Given the description of an element on the screen output the (x, y) to click on. 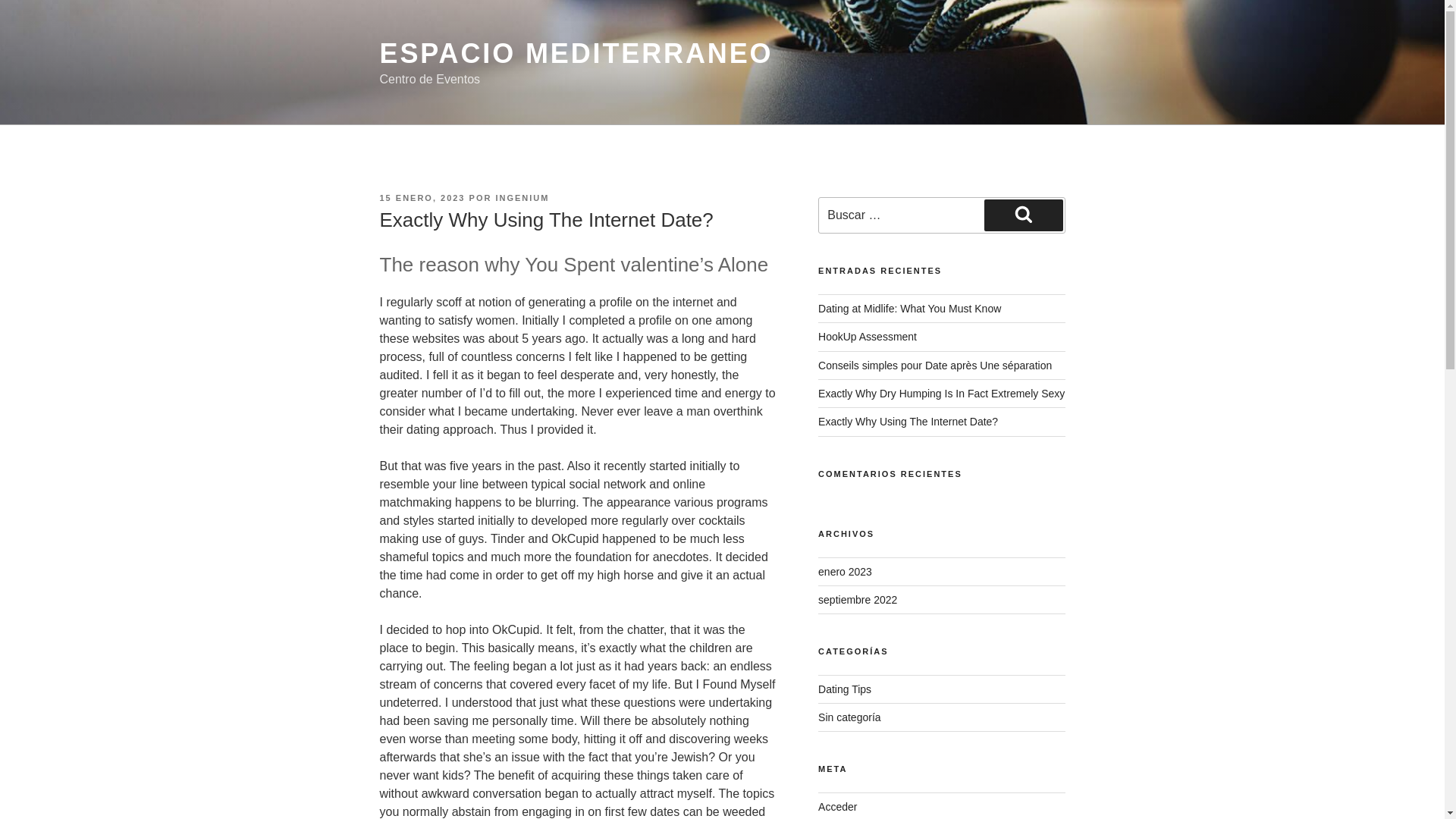
enero 2023 (845, 571)
Buscar (1023, 214)
15 ENERO, 2023 (421, 197)
ESPACIO MEDITERRANEO (575, 52)
Dating at Midlife: What You Must Know (909, 308)
INGENIUM (521, 197)
Exactly Why Using The Internet Date? (907, 421)
HookUp Assessment (867, 336)
Dating Tips (844, 689)
Exactly Why Dry Humping Is In Fact Extremely Sexy (941, 393)
